Given the description of an element on the screen output the (x, y) to click on. 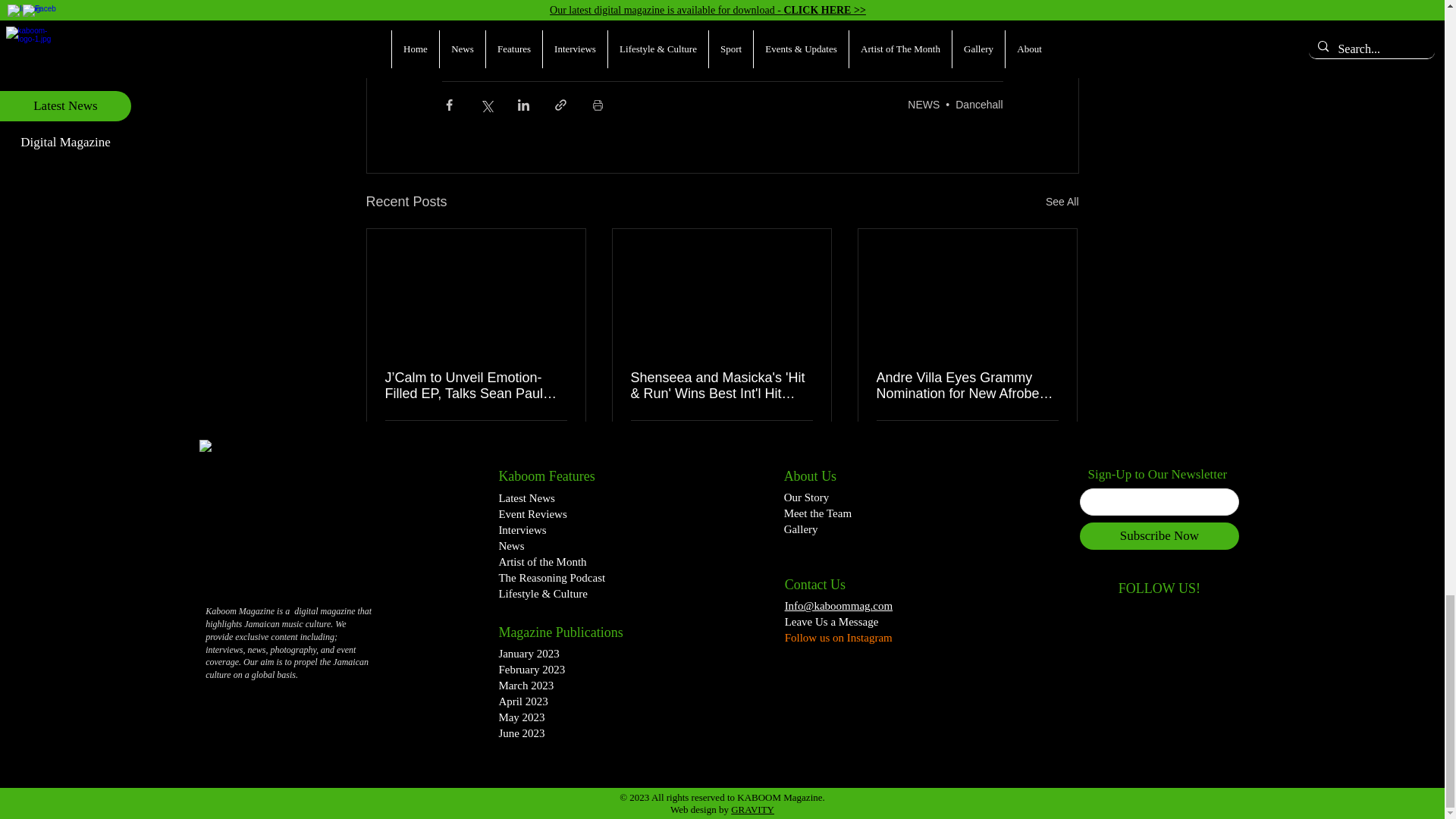
0 (397, 439)
Dancehall (979, 104)
See All (1061, 201)
0 (643, 439)
NEWS (923, 104)
